Given the description of an element on the screen output the (x, y) to click on. 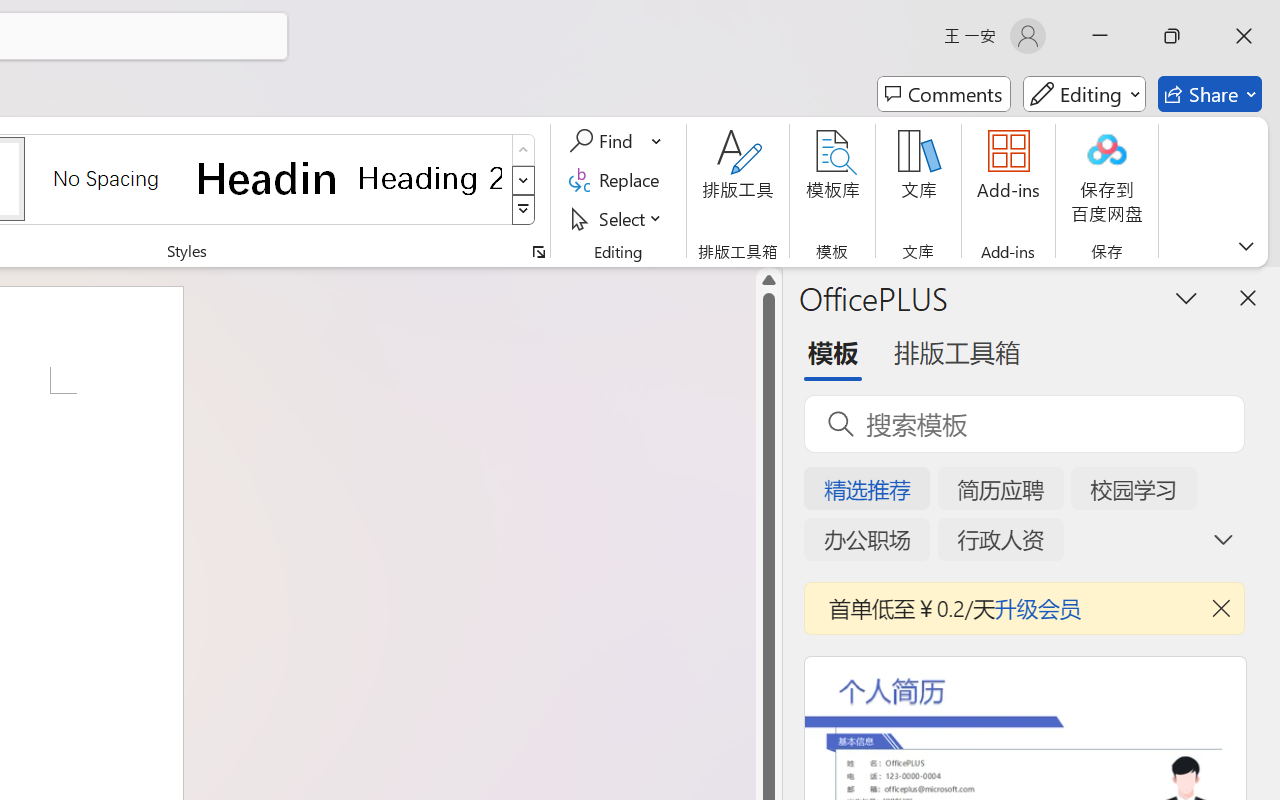
Ribbon Display Options (1246, 245)
Mode (1083, 94)
Styles (523, 209)
Share (1210, 94)
Minimize (1099, 36)
Styles... (538, 252)
Task Pane Options (1186, 297)
Replace... (617, 179)
